Given the description of an element on the screen output the (x, y) to click on. 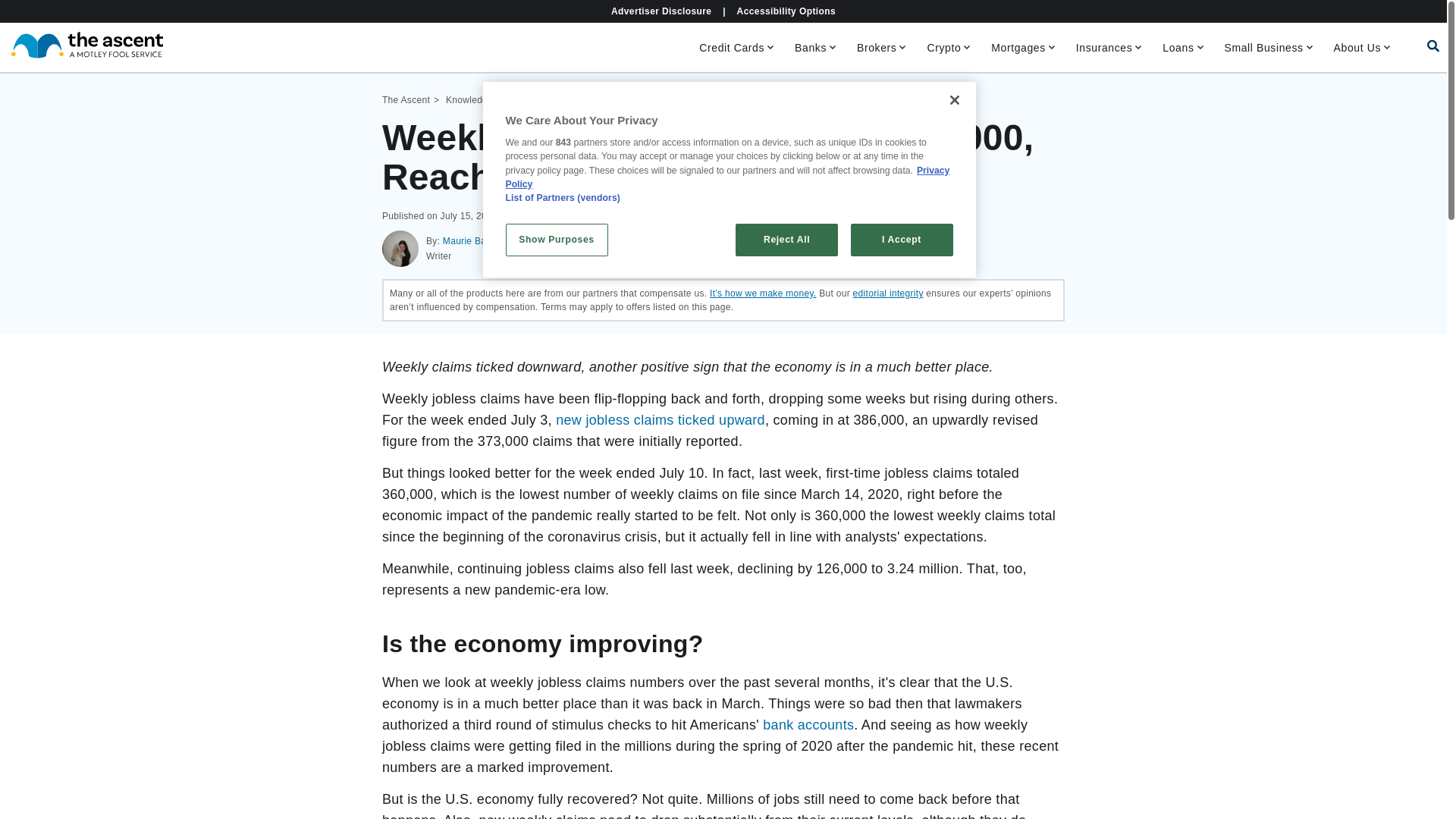
Search Icon Click here to search (1432, 45)
